Given the description of an element on the screen output the (x, y) to click on. 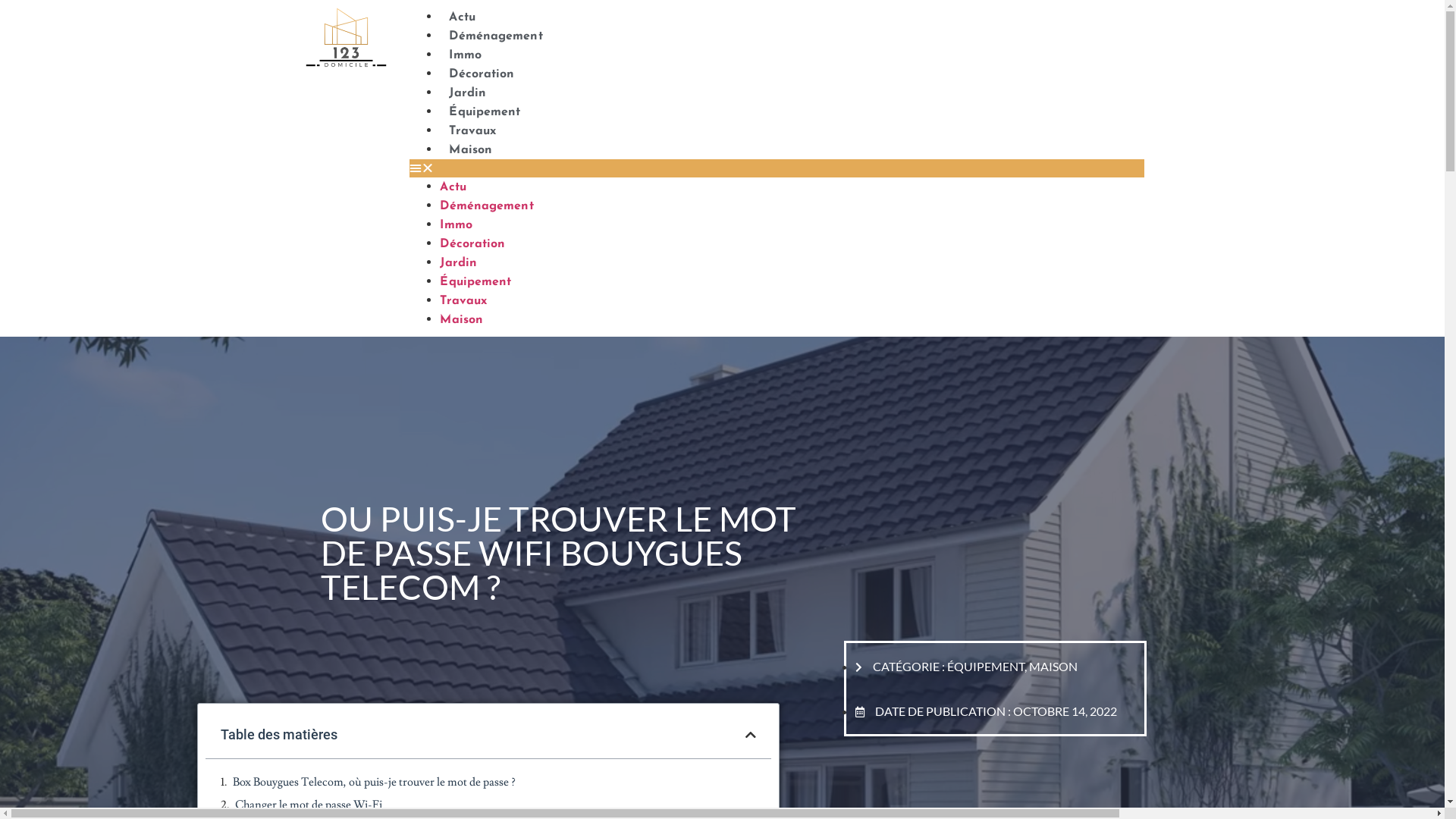
Jardin Element type: text (467, 93)
Immo Element type: text (455, 225)
Travaux Element type: text (472, 131)
Immo Element type: text (464, 55)
Changer le mot de passe Wi-Fi Element type: text (308, 805)
Travaux Element type: text (462, 300)
Maison Element type: text (461, 319)
Jardin Element type: text (457, 263)
Actu Element type: text (452, 187)
Maison Element type: text (470, 150)
MAISON Element type: text (1053, 665)
Actu Element type: text (461, 17)
